Given the description of an element on the screen output the (x, y) to click on. 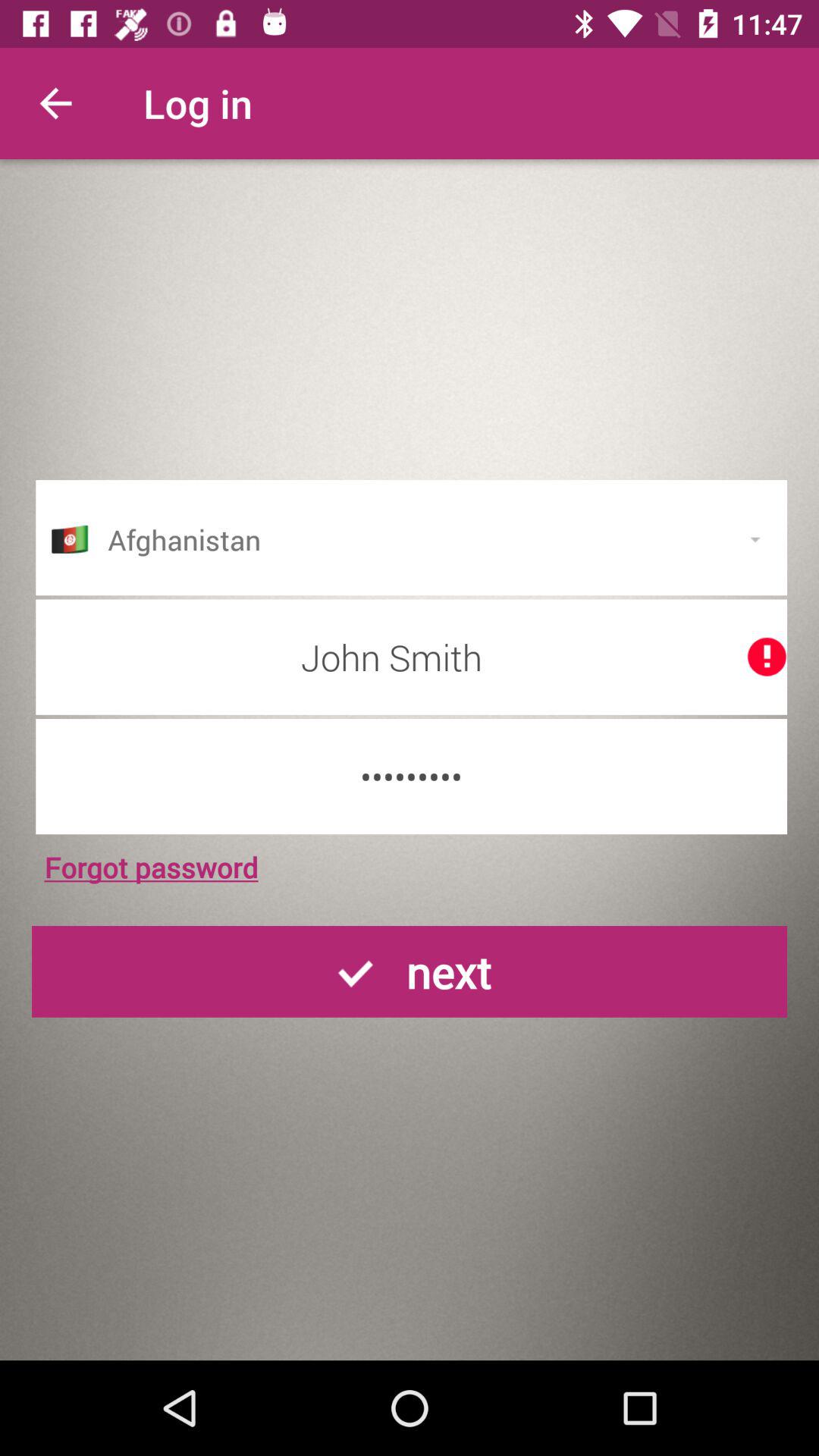
flip to the john smith icon (411, 657)
